Given the description of an element on the screen output the (x, y) to click on. 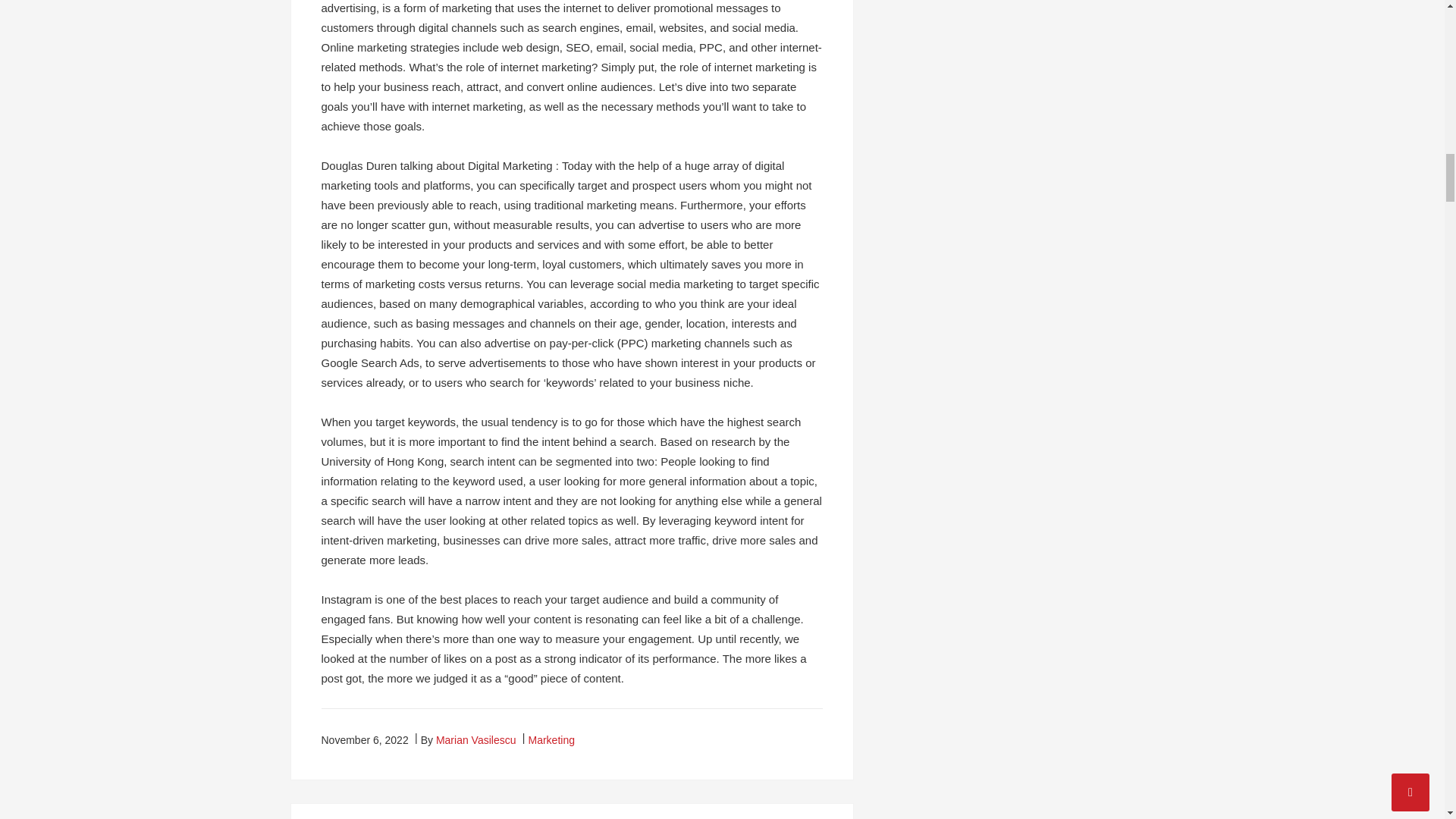
View all posts by Marian Vasilescu (475, 739)
Marian Vasilescu (475, 739)
Marketing (550, 739)
